Given the description of an element on the screen output the (x, y) to click on. 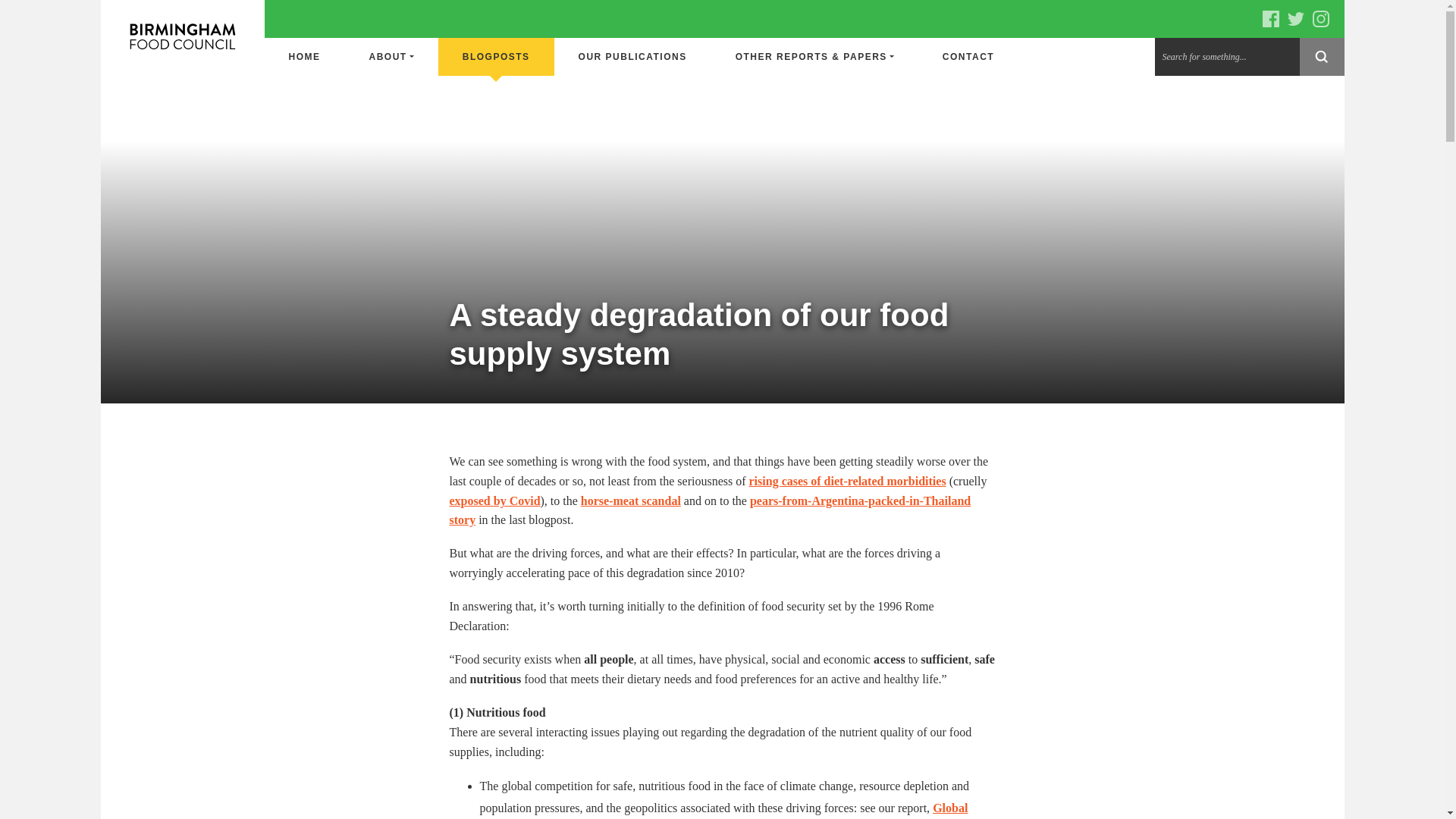
Our publications (632, 56)
Global risks to UK food supplies (723, 810)
Blogposts (496, 56)
horse-meat scandal (630, 500)
ABOUT (390, 56)
About (390, 56)
exposed by Covid (494, 500)
OUR PUBLICATIONS (632, 56)
HOME (303, 56)
rising cases of diet-related morbidities (847, 481)
Birmingham Food Council (181, 38)
pears-from-Argentina-packed-in-Thailand story (709, 510)
CONTACT (967, 56)
Home (303, 56)
BLOGPOSTS (496, 56)
